Given the description of an element on the screen output the (x, y) to click on. 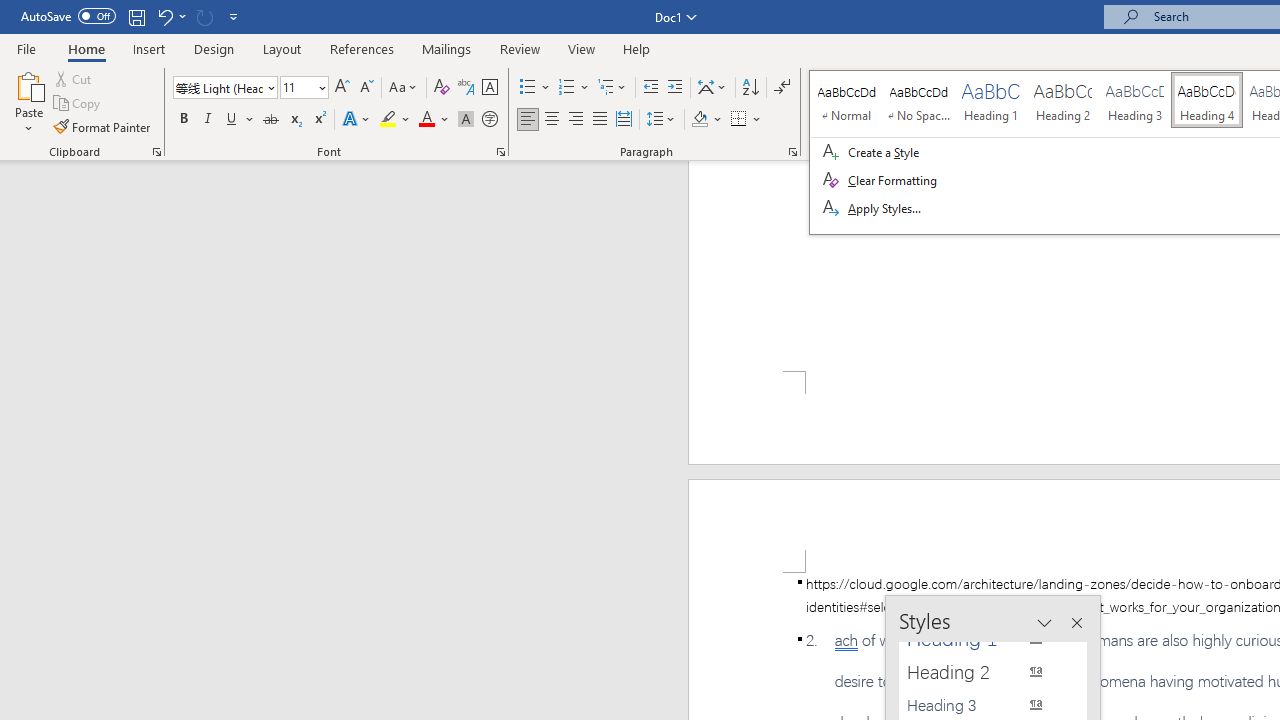
Font Color Automatic (426, 119)
